Given the description of an element on the screen output the (x, y) to click on. 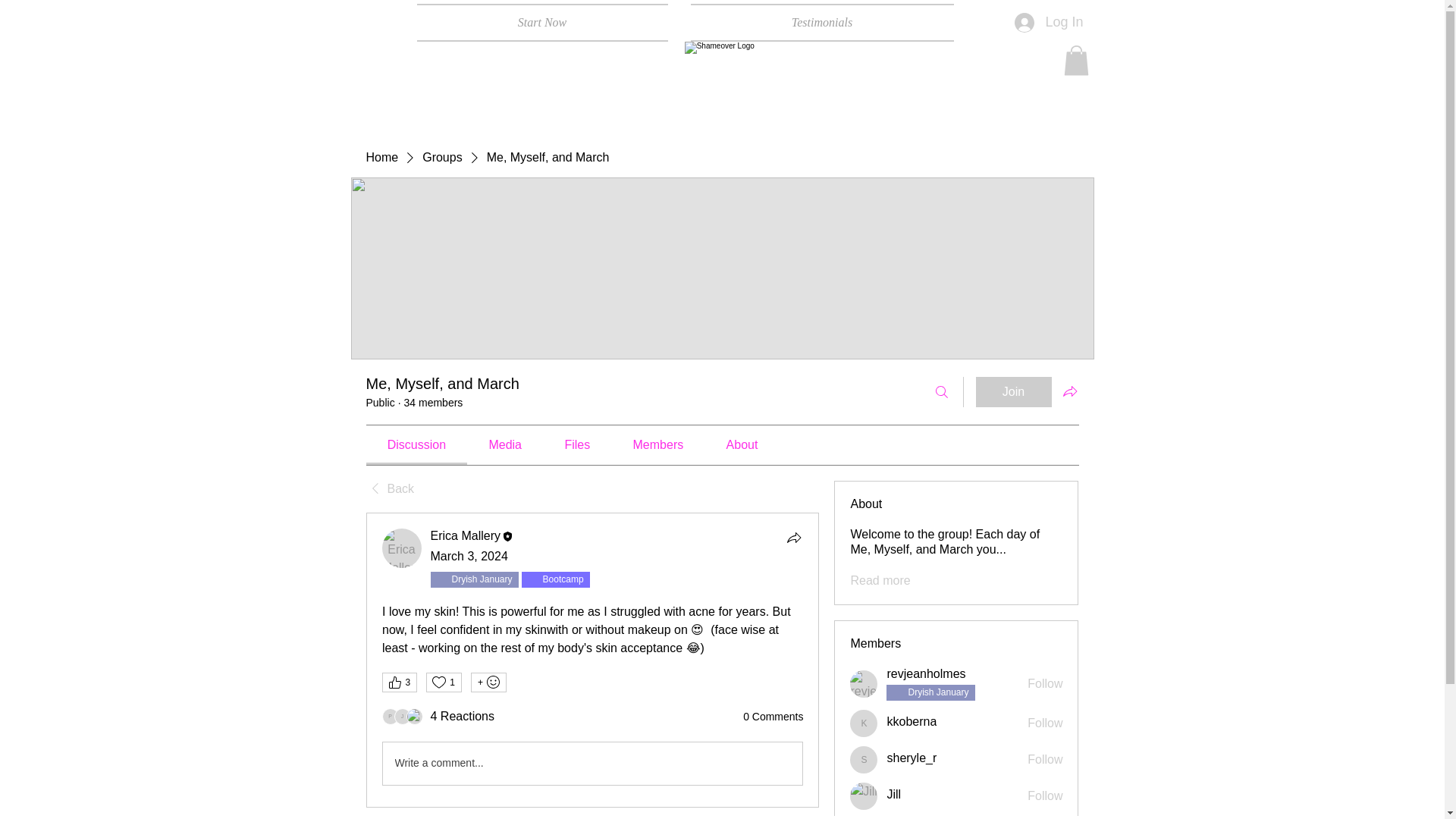
revjeanholmes (925, 673)
March 3, 2024 (469, 555)
4 Reactions (462, 716)
Start Now (547, 22)
Erica Mallery (401, 548)
Follow (1044, 683)
Testimonials (816, 22)
Write a comment... (591, 763)
